Given the description of an element on the screen output the (x, y) to click on. 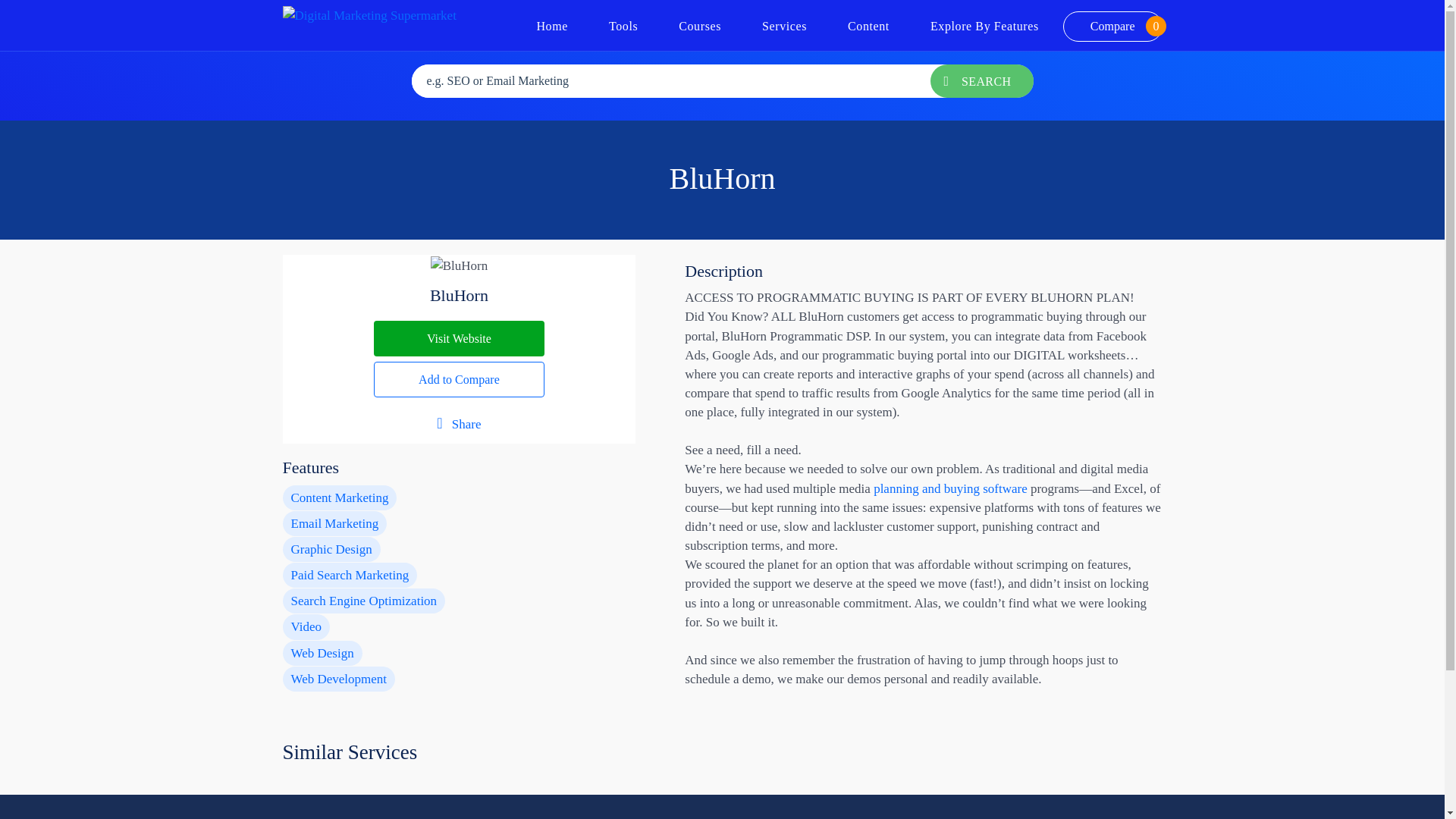
Courses (700, 26)
Web Design (321, 652)
Content (868, 26)
Digital Marketing Supermarket (368, 13)
Home (1111, 26)
Visit Website (552, 26)
Video (459, 338)
Tools (306, 626)
planning and buying software (622, 26)
